Given the description of an element on the screen output the (x, y) to click on. 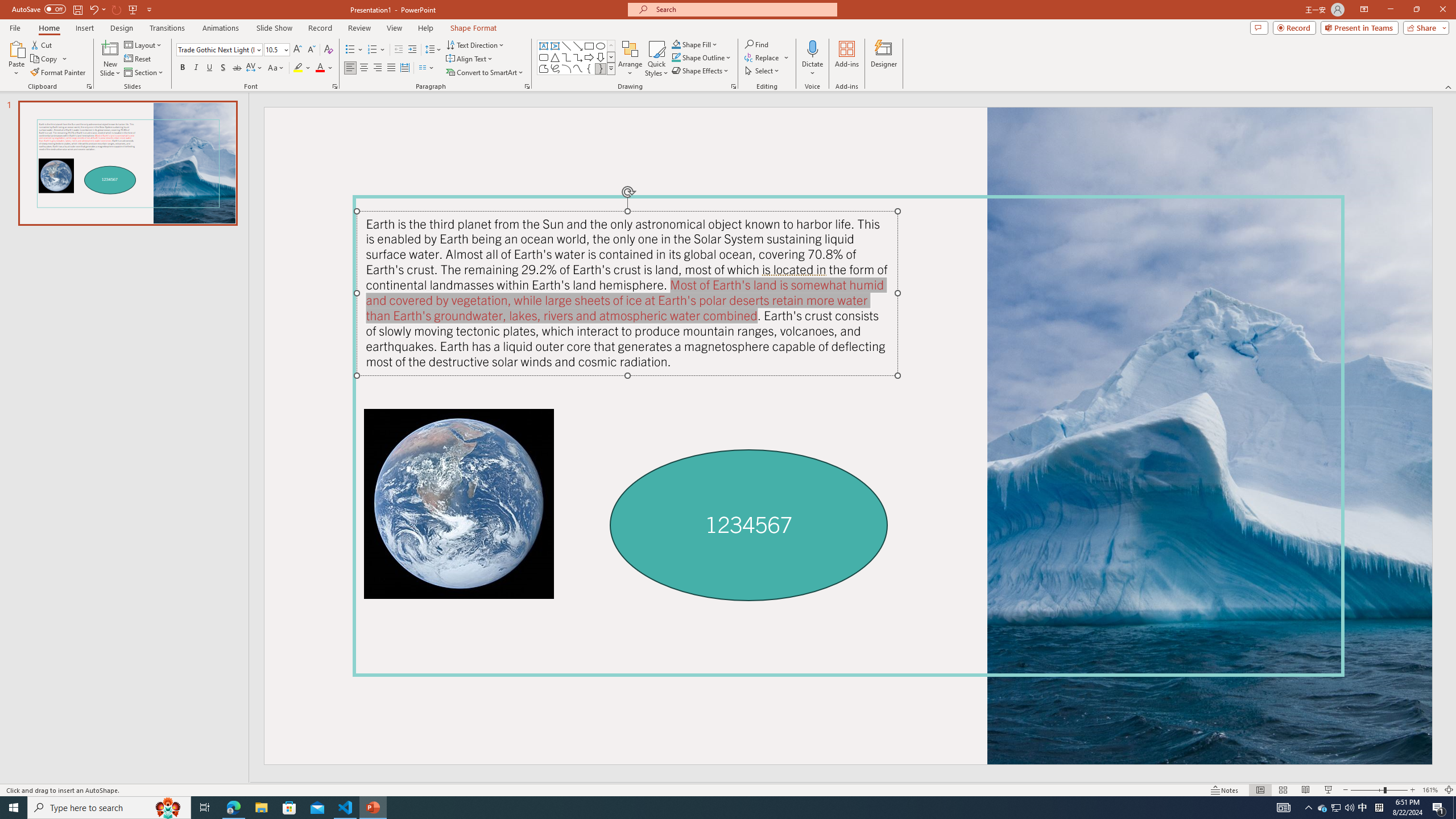
Vertical Text Box (554, 45)
Shape Outline Teal, Accent 1 (675, 56)
Justify (390, 67)
Office Clipboard... (88, 85)
Left Brace (589, 68)
Font... (334, 85)
